Given the description of an element on the screen output the (x, y) to click on. 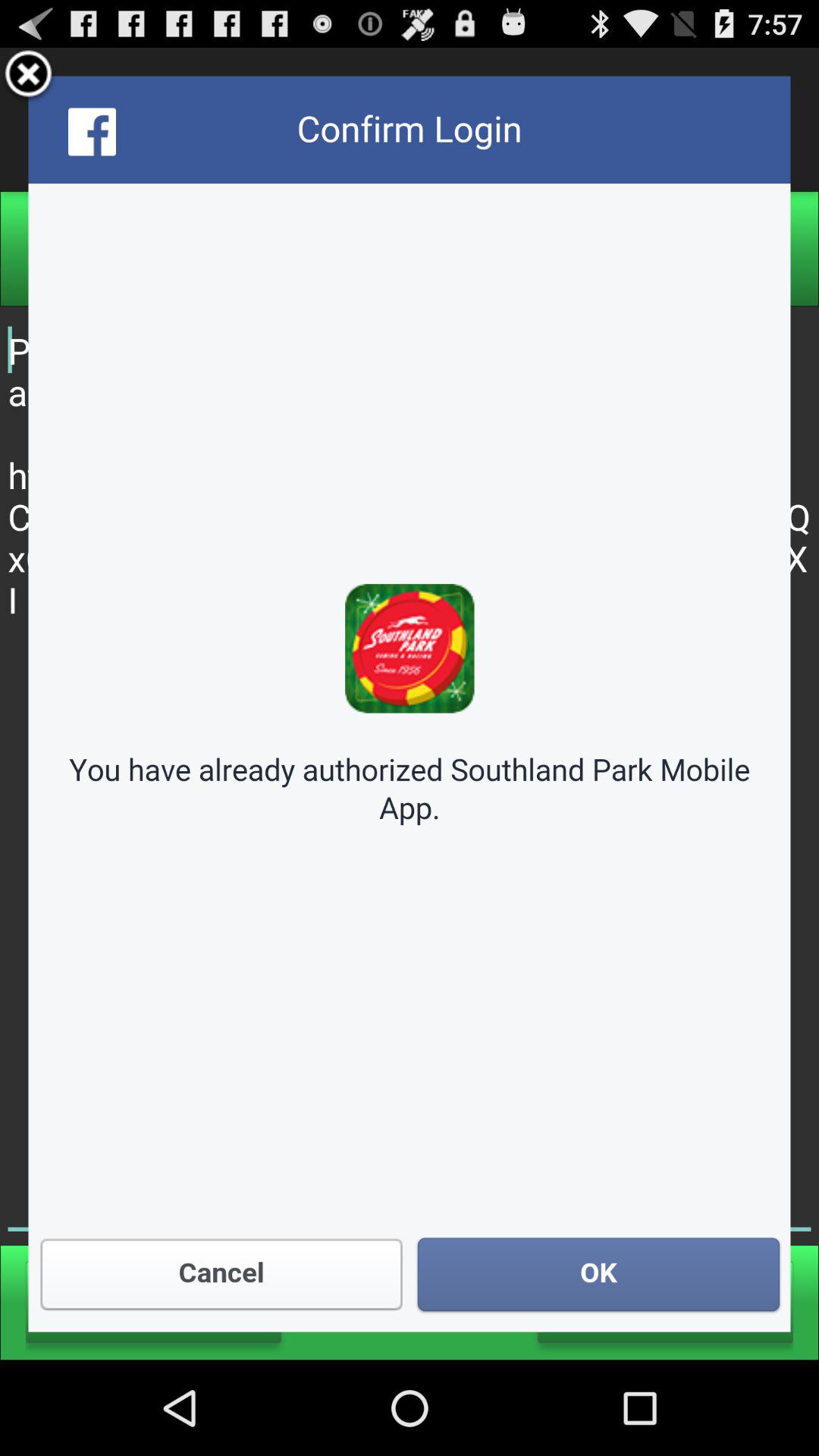
description (409, 704)
